Given the description of an element on the screen output the (x, y) to click on. 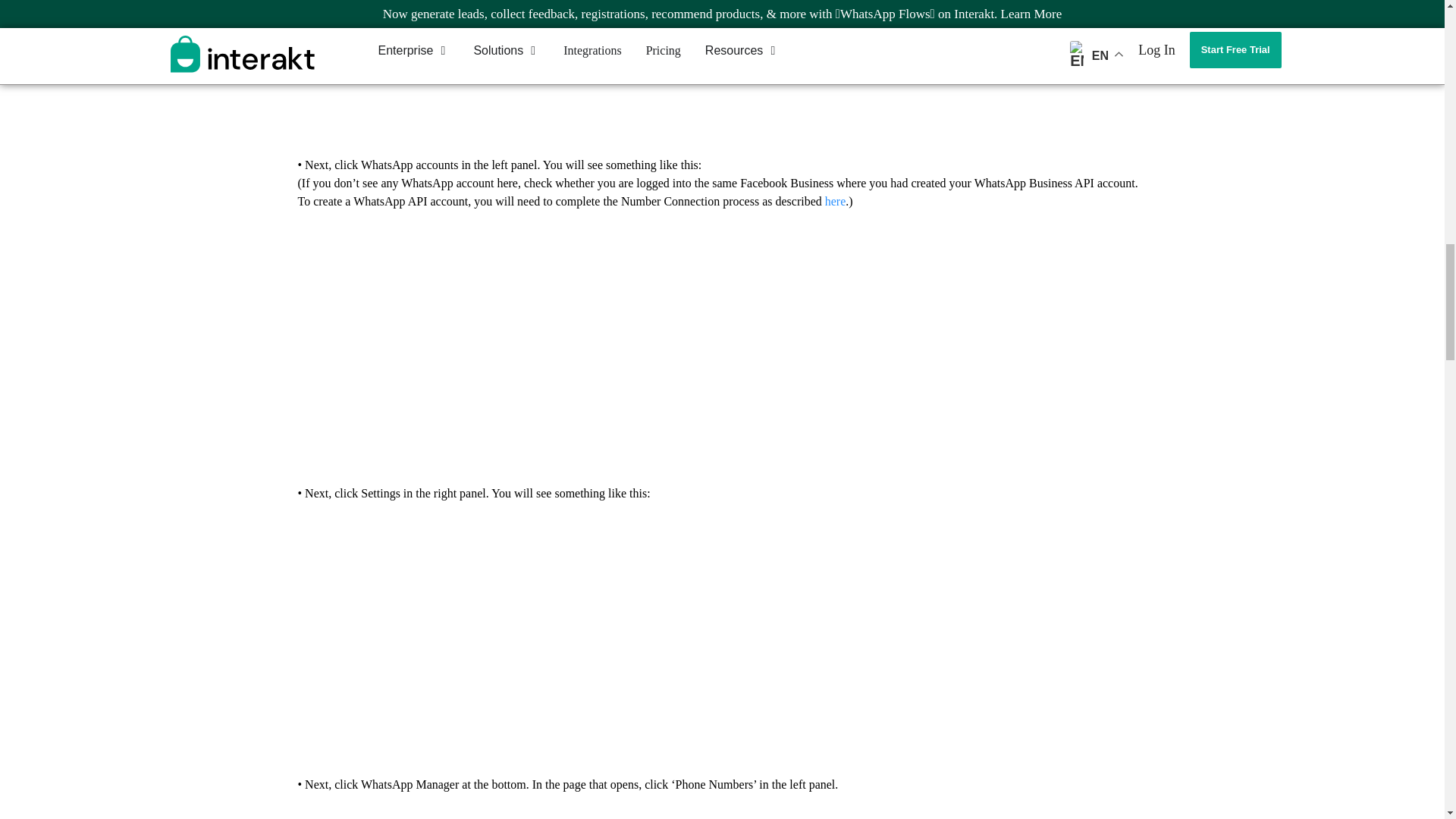
All about Green Tick 4 (721, 347)
All about Green Tick 3 (721, 70)
All about Green Tick 6 (721, 814)
All about Green Tick 5 (721, 639)
